Given the description of an element on the screen output the (x, y) to click on. 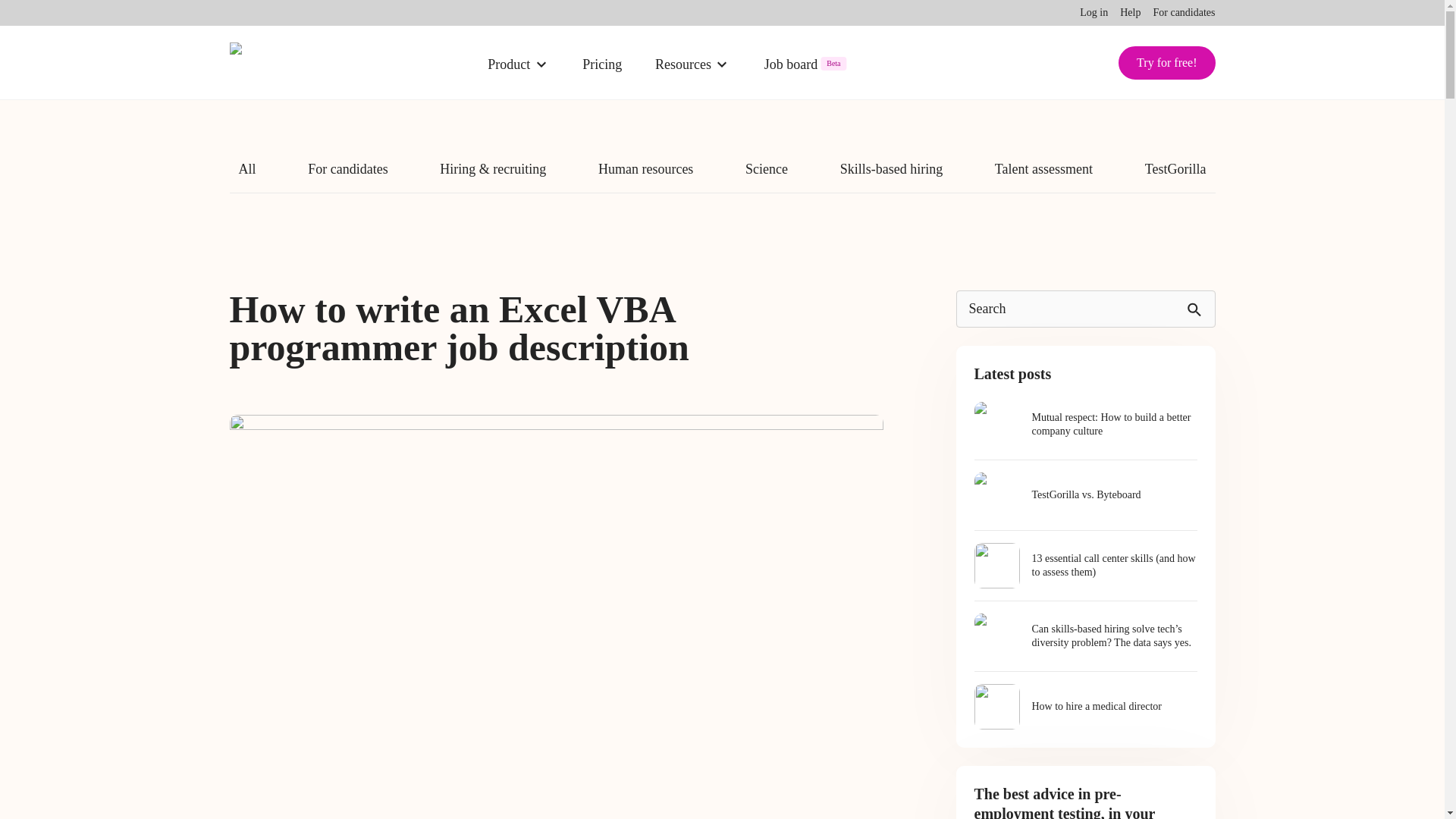
Log in (1094, 12)
TestGorilla (1175, 176)
Pricing (601, 62)
Skills-based hiring (891, 176)
Science (766, 176)
Human resources (645, 176)
Product (517, 62)
All (246, 176)
For candidates (347, 176)
Talent assessment (1043, 176)
Try for free! (1166, 62)
Resources (691, 62)
Help (1129, 12)
For candidates (1183, 12)
Job board (807, 62)
